Given the description of an element on the screen output the (x, y) to click on. 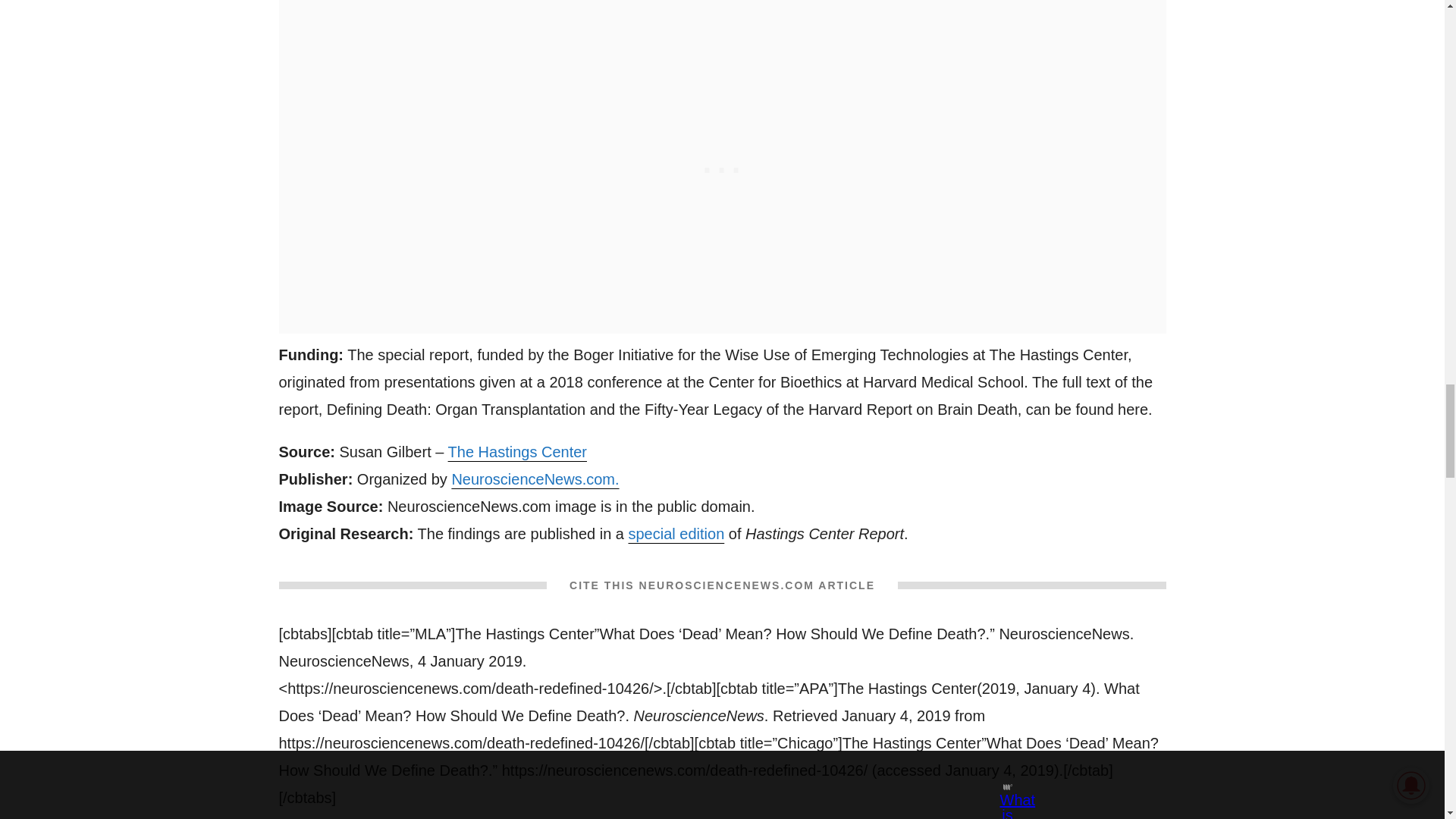
NeuroscienceNews.com. (534, 478)
The Hastings Center (517, 451)
special edition (675, 533)
